Given the description of an element on the screen output the (x, y) to click on. 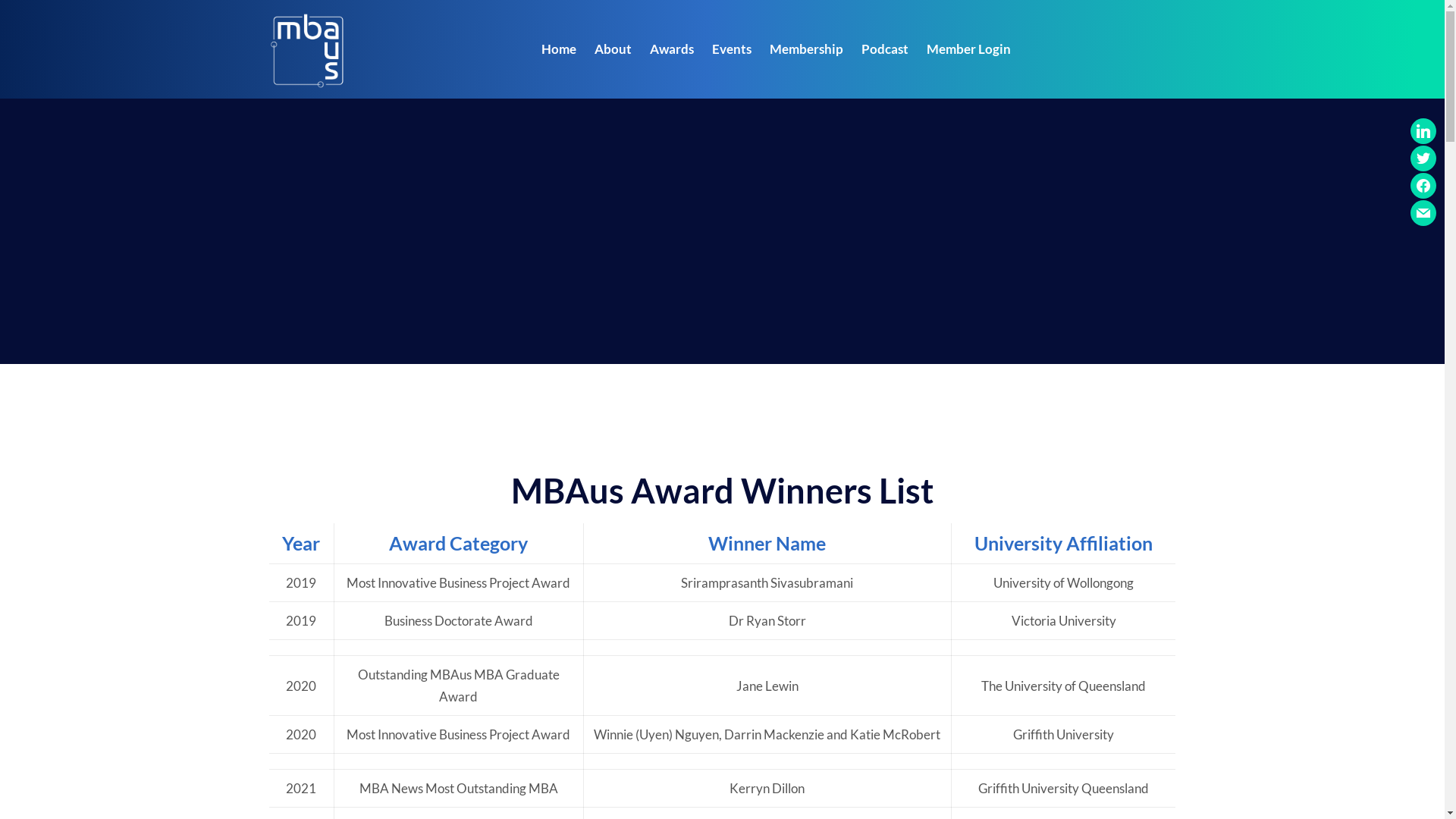
Member Login Element type: text (968, 49)
Events Element type: text (731, 49)
twitter Element type: text (1423, 156)
Awards Element type: text (671, 49)
About Element type: text (612, 49)
Podcast Element type: text (884, 49)
Membership Element type: text (806, 49)
mail Element type: text (1423, 211)
linkedin Element type: text (1423, 129)
Home Element type: text (558, 49)
facebook Element type: text (1423, 183)
MBAus | MBA Australasia Ltd Element type: hover (307, 49)
